Given the description of an element on the screen output the (x, y) to click on. 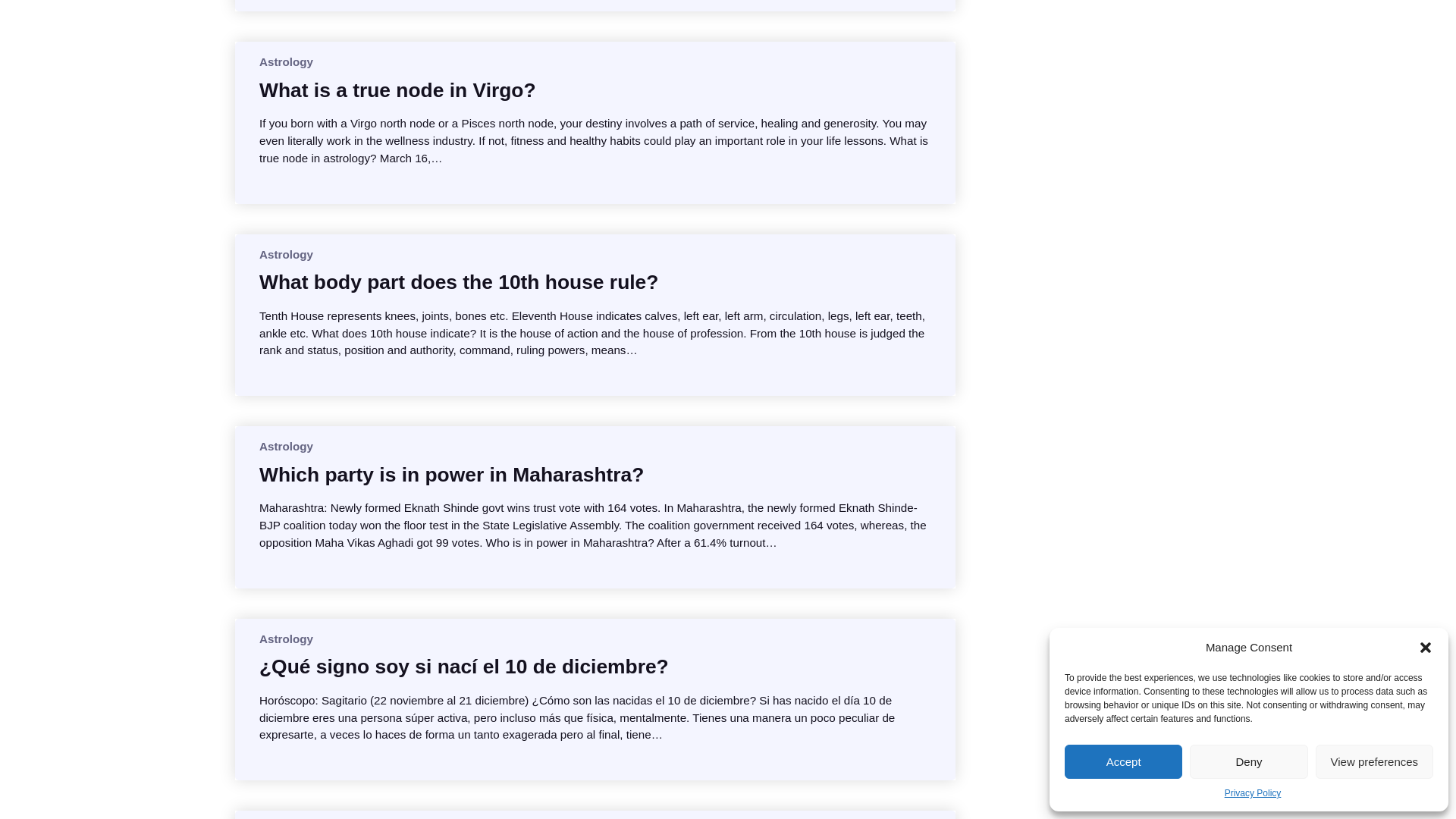
What is a true node in Virgo? (397, 89)
Astrology (286, 254)
Astrology (286, 638)
Astrology (286, 61)
Astrology (286, 445)
What body part does the 10th house rule? (458, 281)
Which party is in power in Maharashtra? (451, 474)
